Given the description of an element on the screen output the (x, y) to click on. 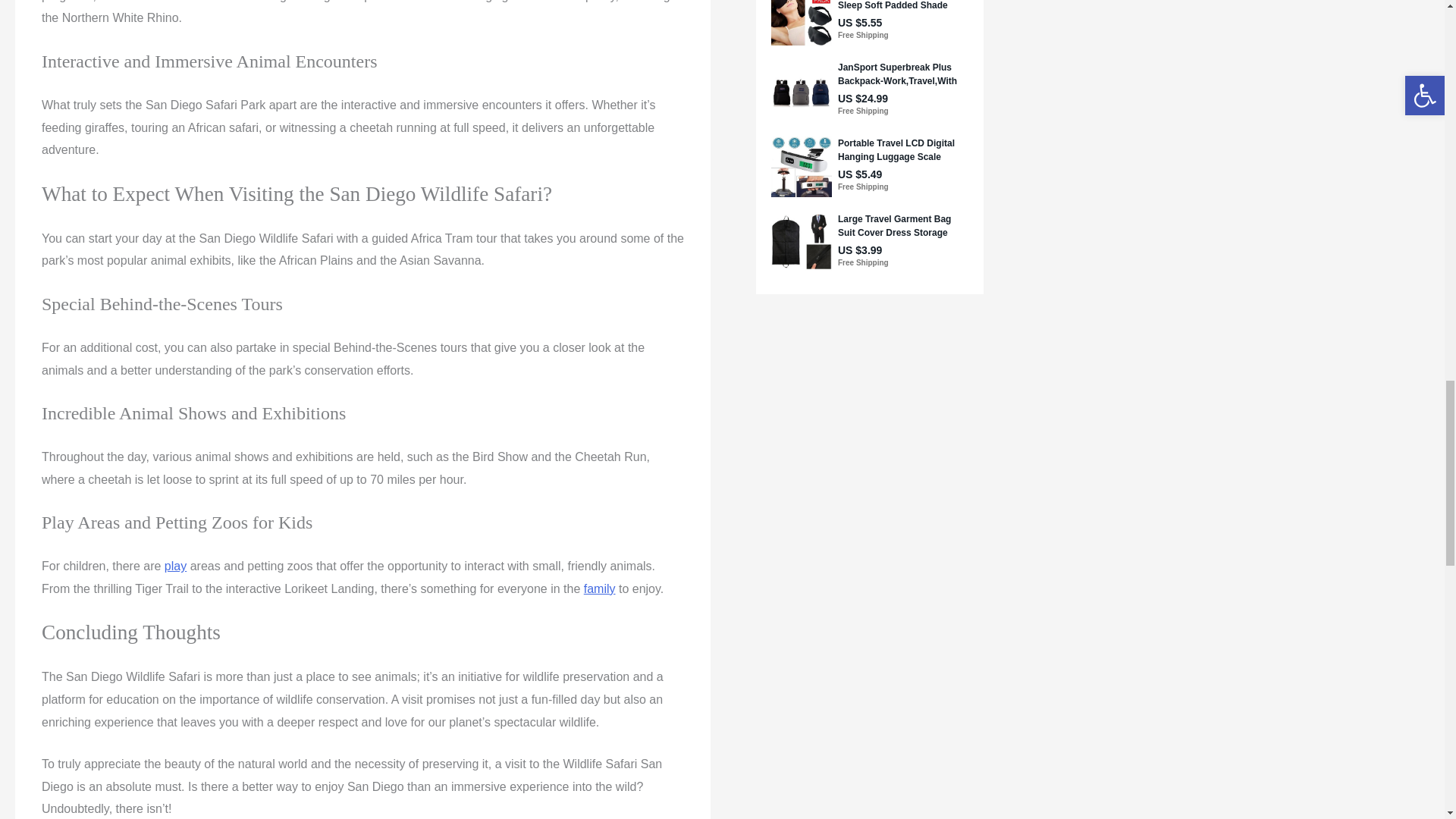
play (175, 565)
family (599, 588)
